Given the description of an element on the screen output the (x, y) to click on. 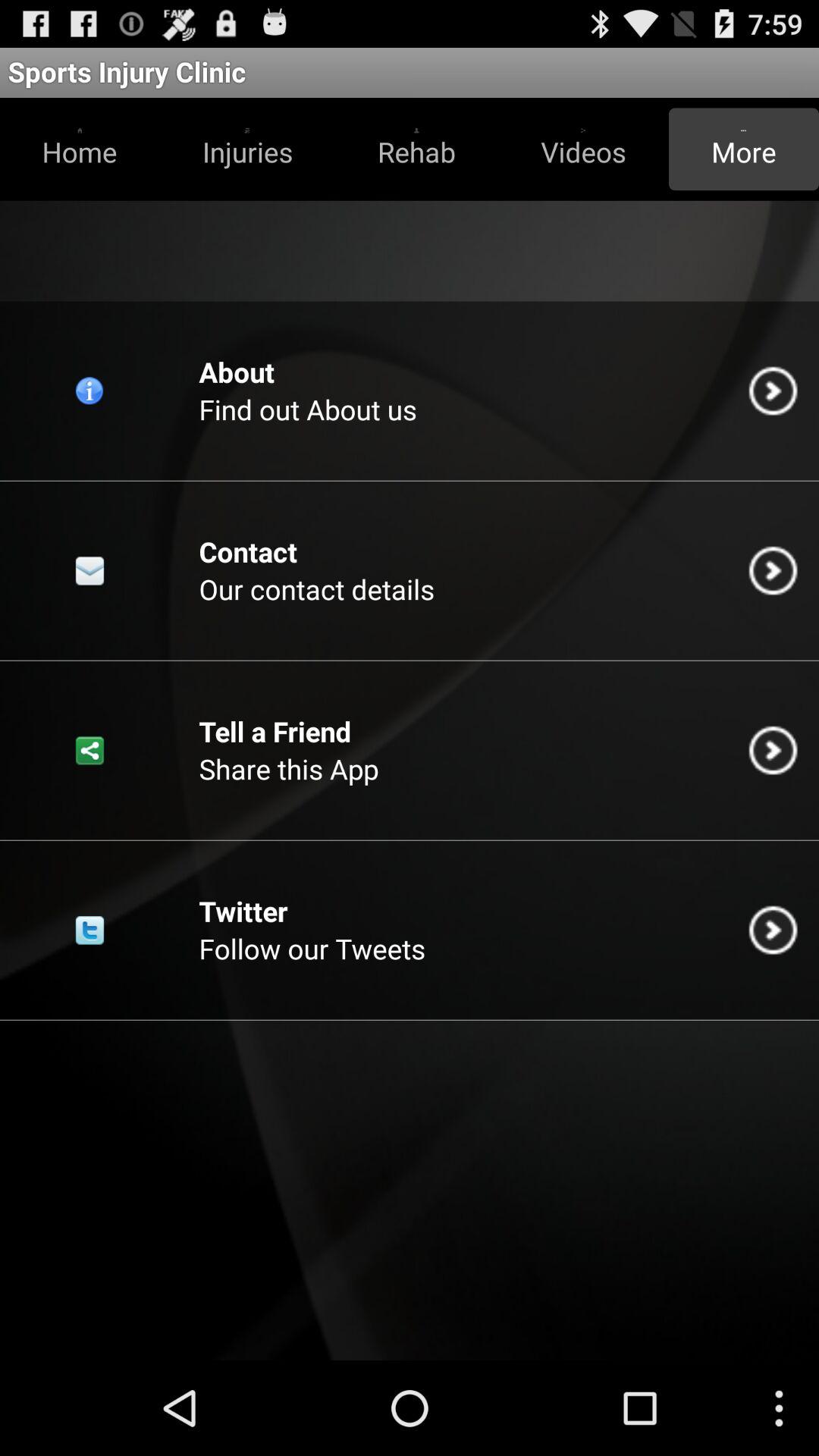
open icon to the right of share this app item (773, 750)
